Given the description of an element on the screen output the (x, y) to click on. 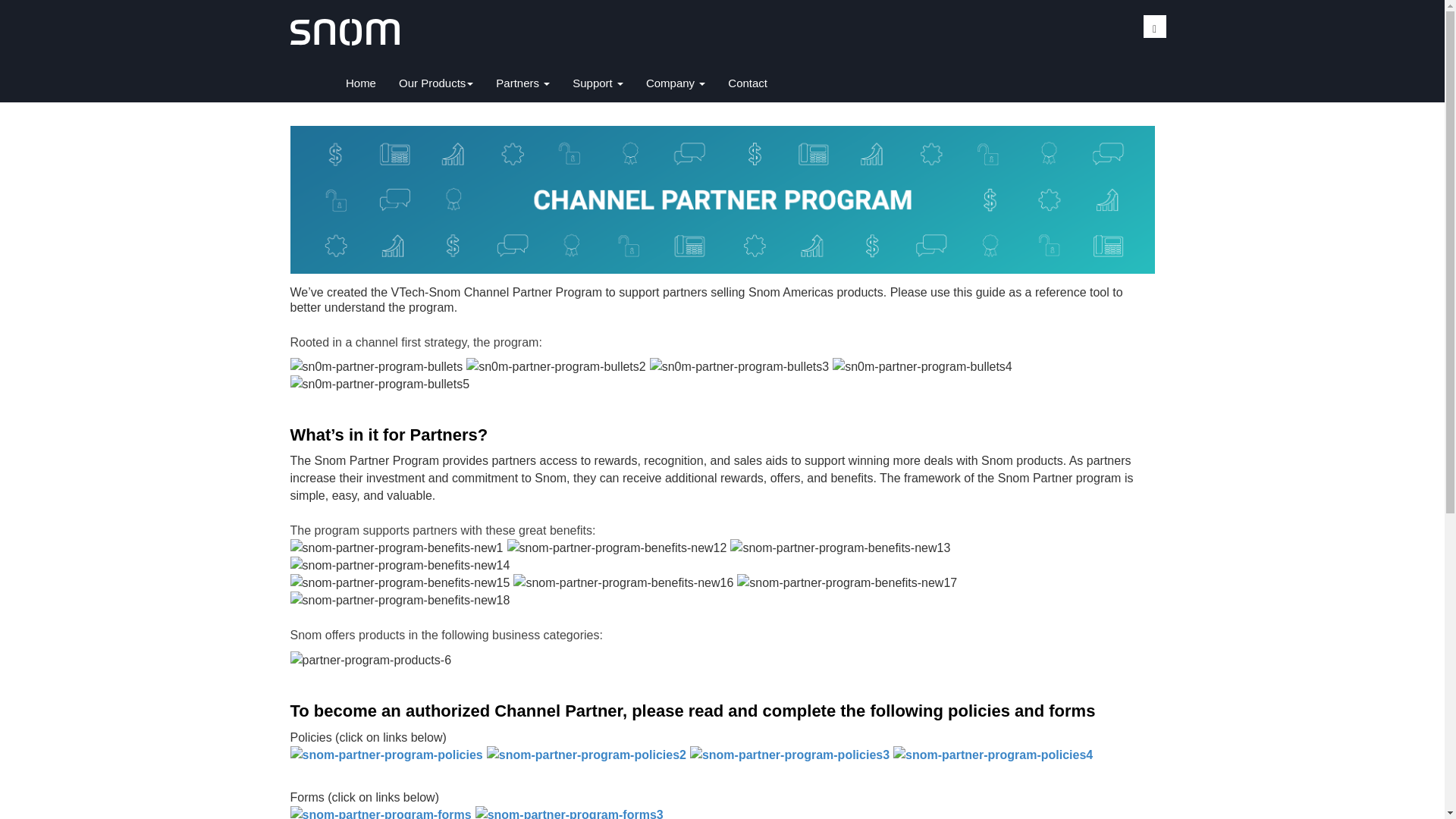
Partners (522, 83)
Home (360, 83)
Our Products (435, 83)
snom-lp-channel-partner-program-banner-new-02 (721, 199)
Company (721, 85)
Support (675, 83)
Contact (597, 83)
